Given the description of an element on the screen output the (x, y) to click on. 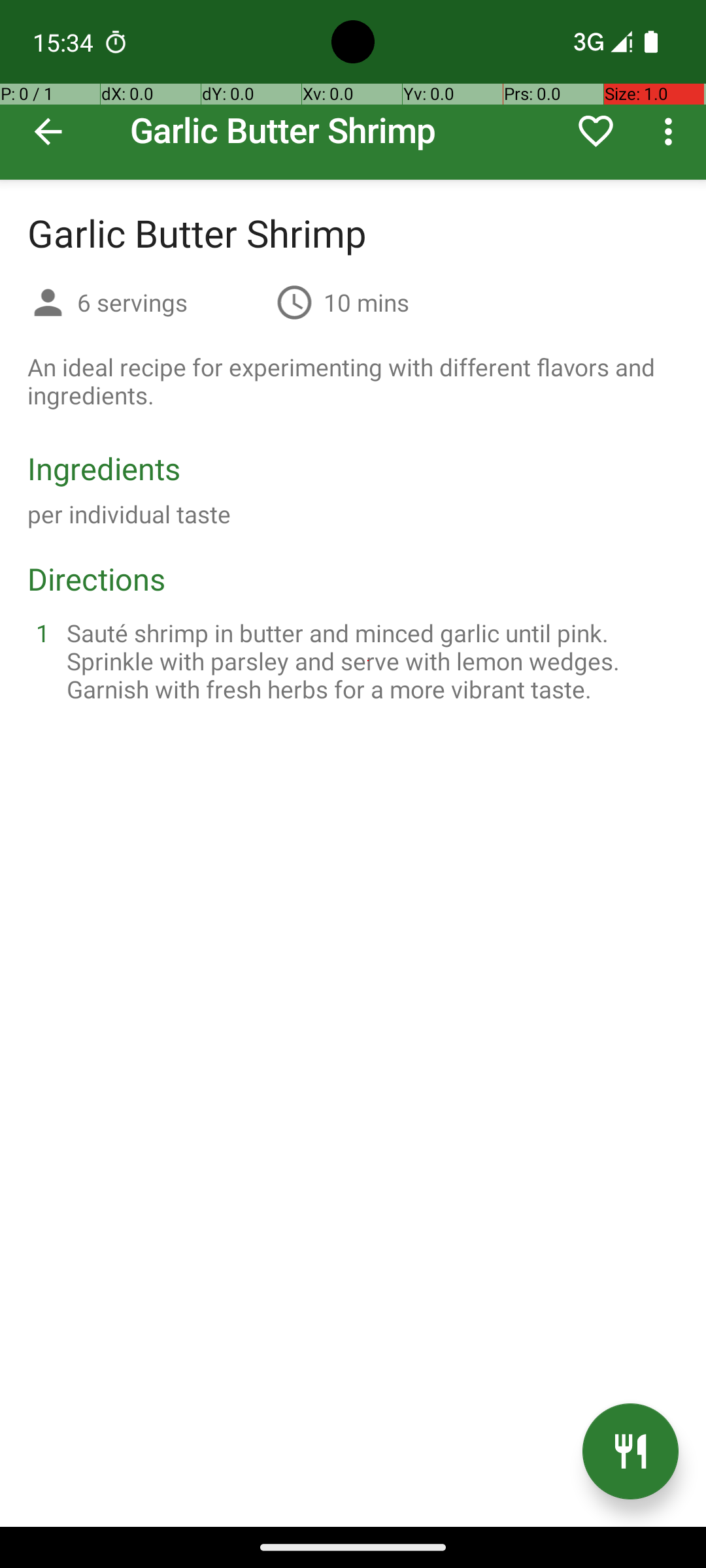
Sauté shrimp in butter and minced garlic until pink. Sprinkle with parsley and serve with lemon wedges. Garnish with fresh herbs for a more vibrant taste. Element type: android.widget.TextView (368, 660)
